Given the description of an element on the screen output the (x, y) to click on. 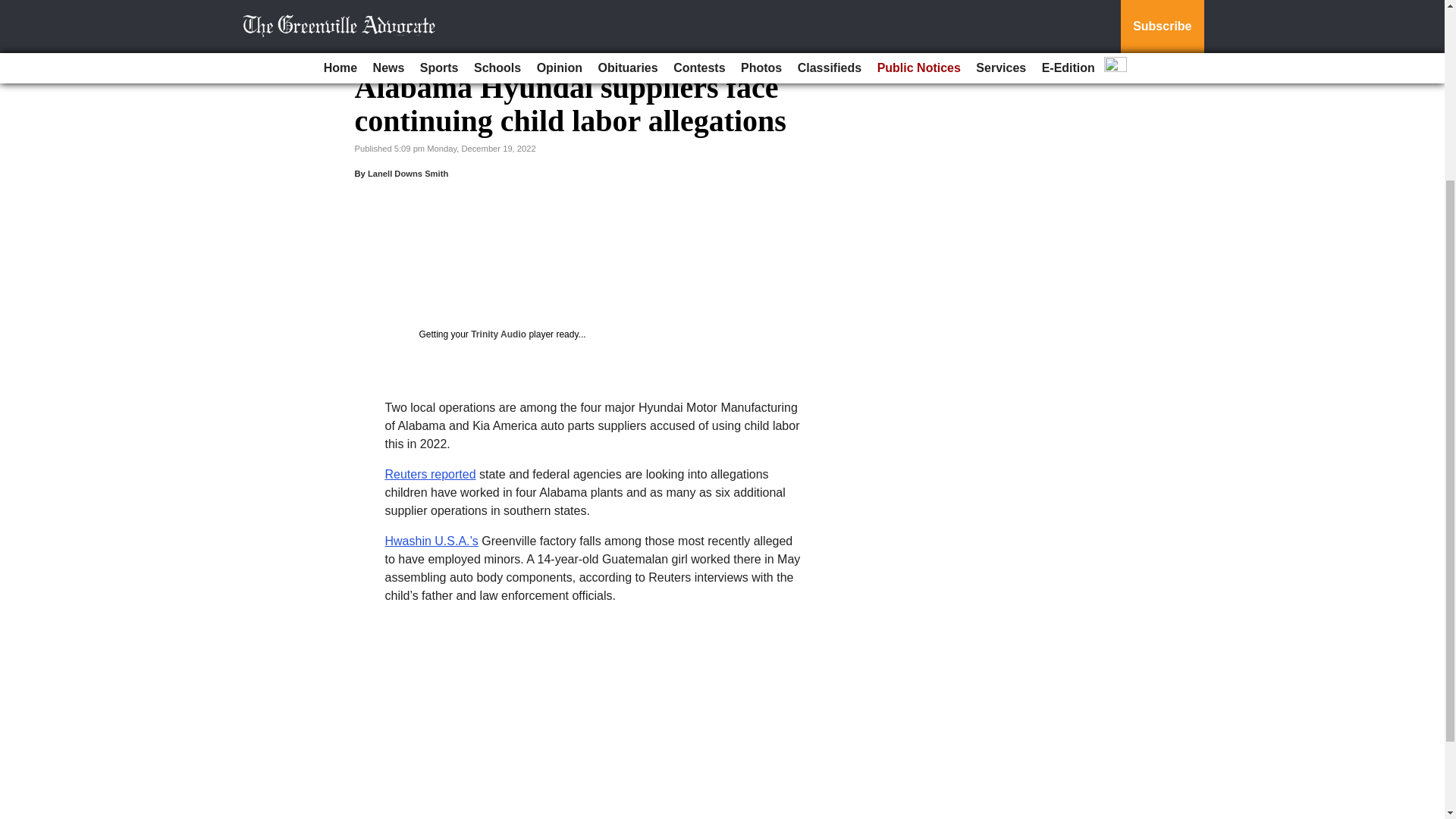
Trinity Audio (497, 334)
Reuters reported (430, 473)
Lanell Downs Smith (408, 173)
